Given the description of an element on the screen output the (x, y) to click on. 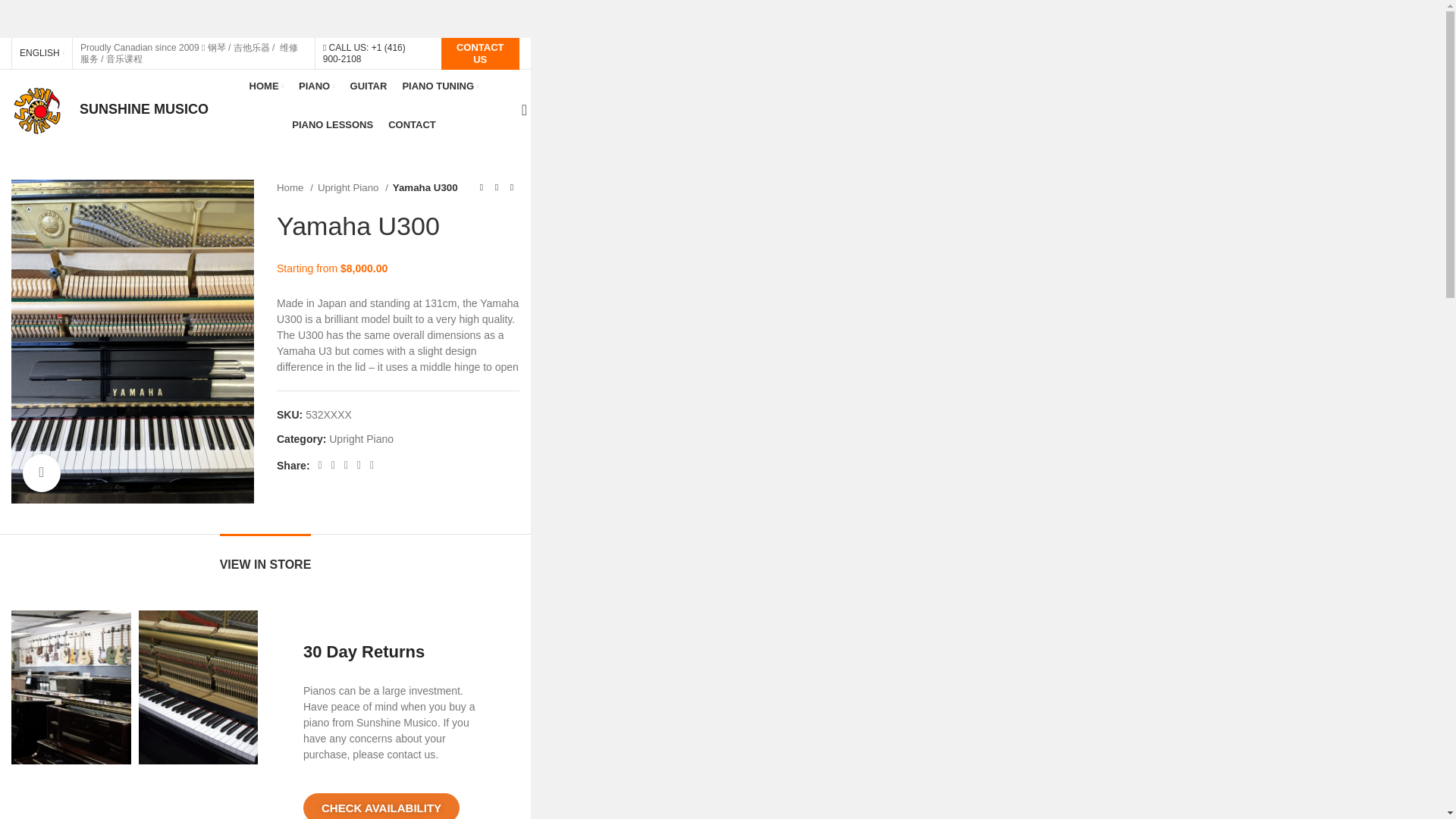
PIANO TUNING (440, 86)
CONTACT US (480, 53)
Home (294, 187)
HOME (265, 86)
ENGLISH (42, 52)
Upright Piano (352, 187)
PIANO LESSONS (332, 124)
GUITAR (368, 86)
PIANO (316, 86)
Upright Piano (361, 439)
CONTACT (411, 124)
VIEW IN STORE (265, 556)
CHECK AVAILABILITY (381, 806)
